Given the description of an element on the screen output the (x, y) to click on. 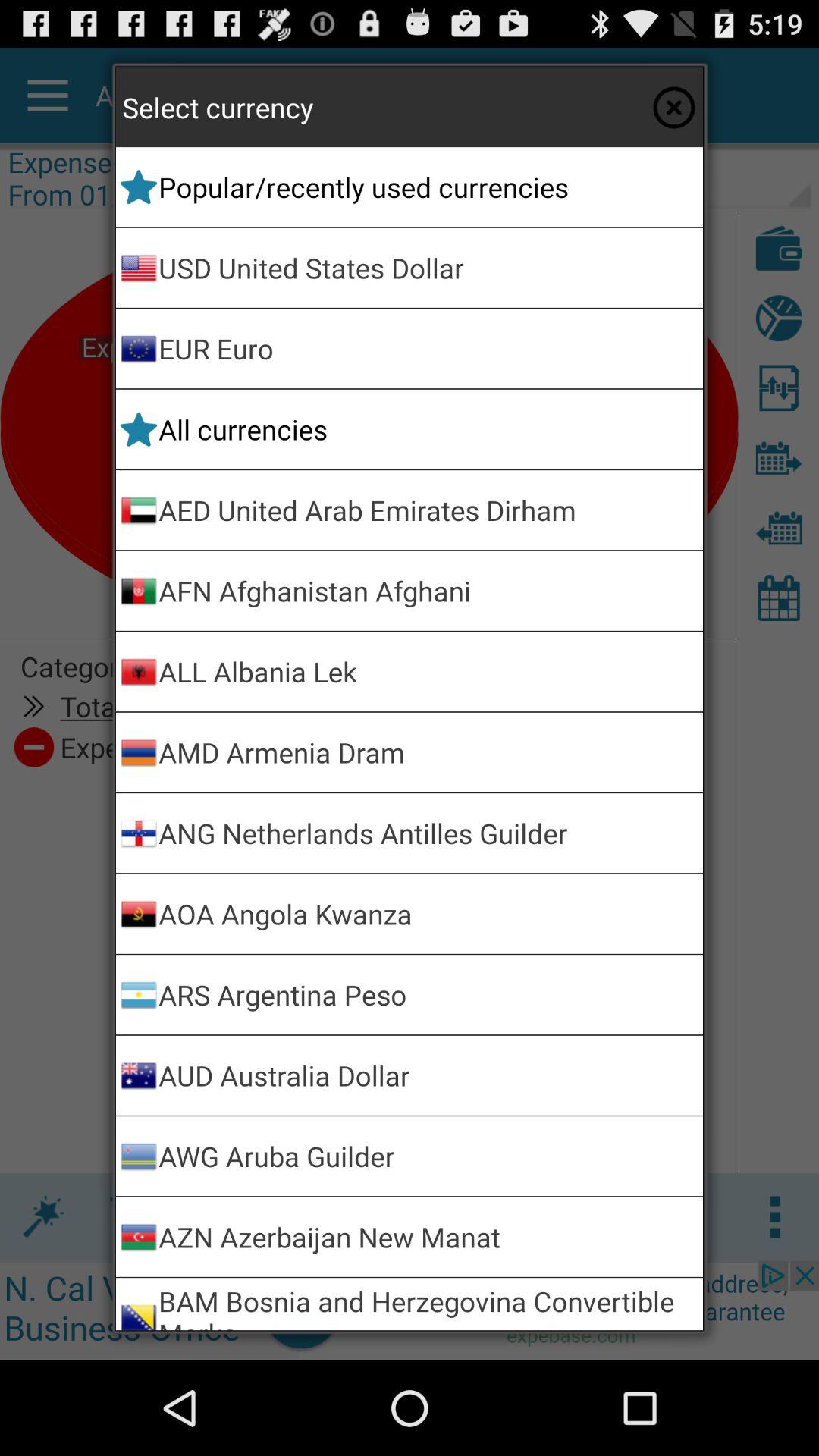
click item below the azn azerbaijan new (427, 1303)
